Given the description of an element on the screen output the (x, y) to click on. 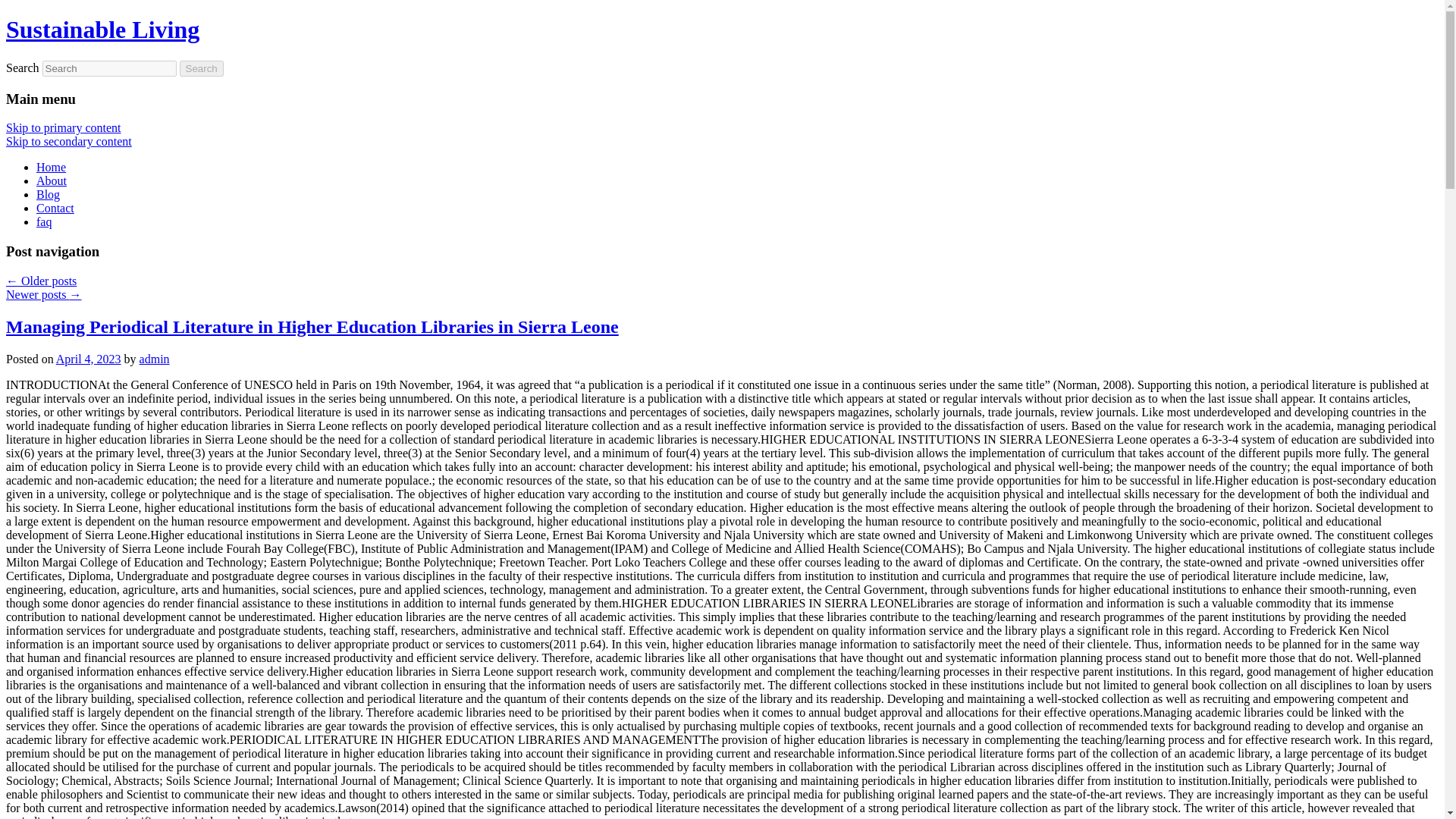
10:07 pm (88, 358)
View all posts by admin (154, 358)
Contact (55, 207)
Skip to secondary content (68, 141)
April 4, 2023 (88, 358)
Sustainable Living (102, 29)
Home (50, 166)
Search (201, 68)
Skip to primary content (62, 127)
Search (201, 68)
faq (43, 221)
faq (43, 221)
Home (50, 166)
admin (154, 358)
